Given the description of an element on the screen output the (x, y) to click on. 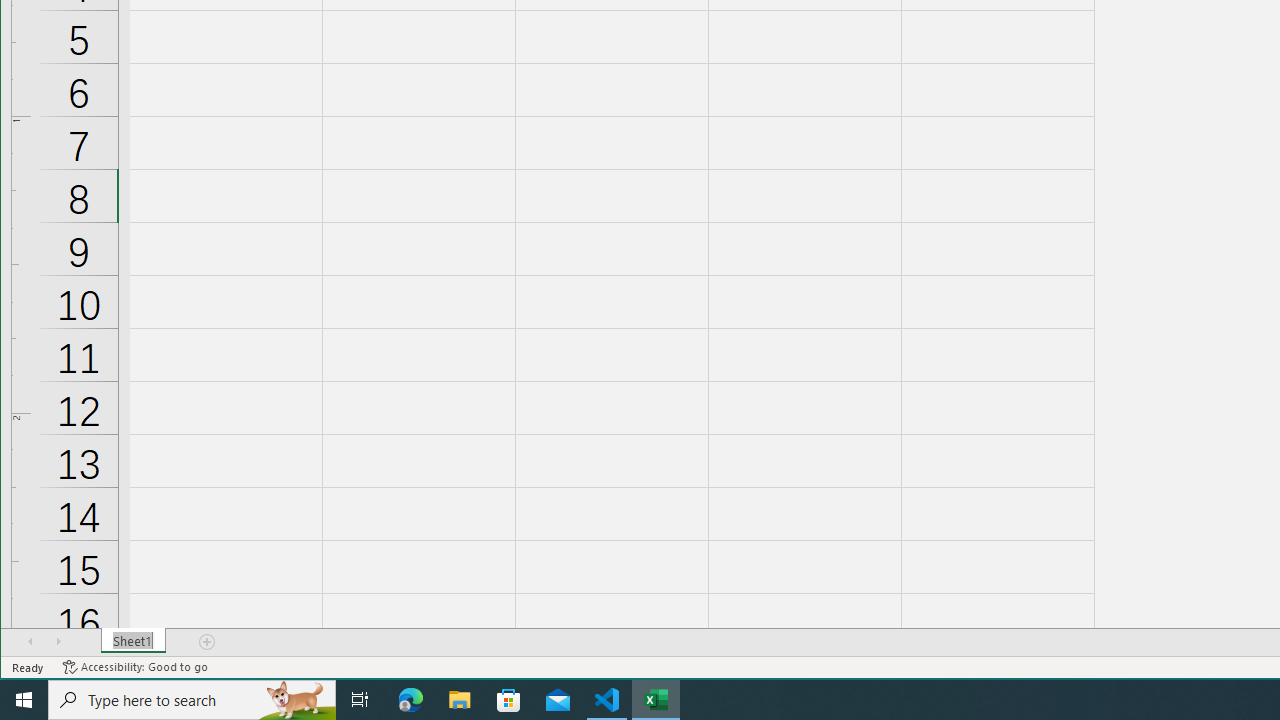
Search highlights icon opens search home window (295, 699)
